Given the description of an element on the screen output the (x, y) to click on. 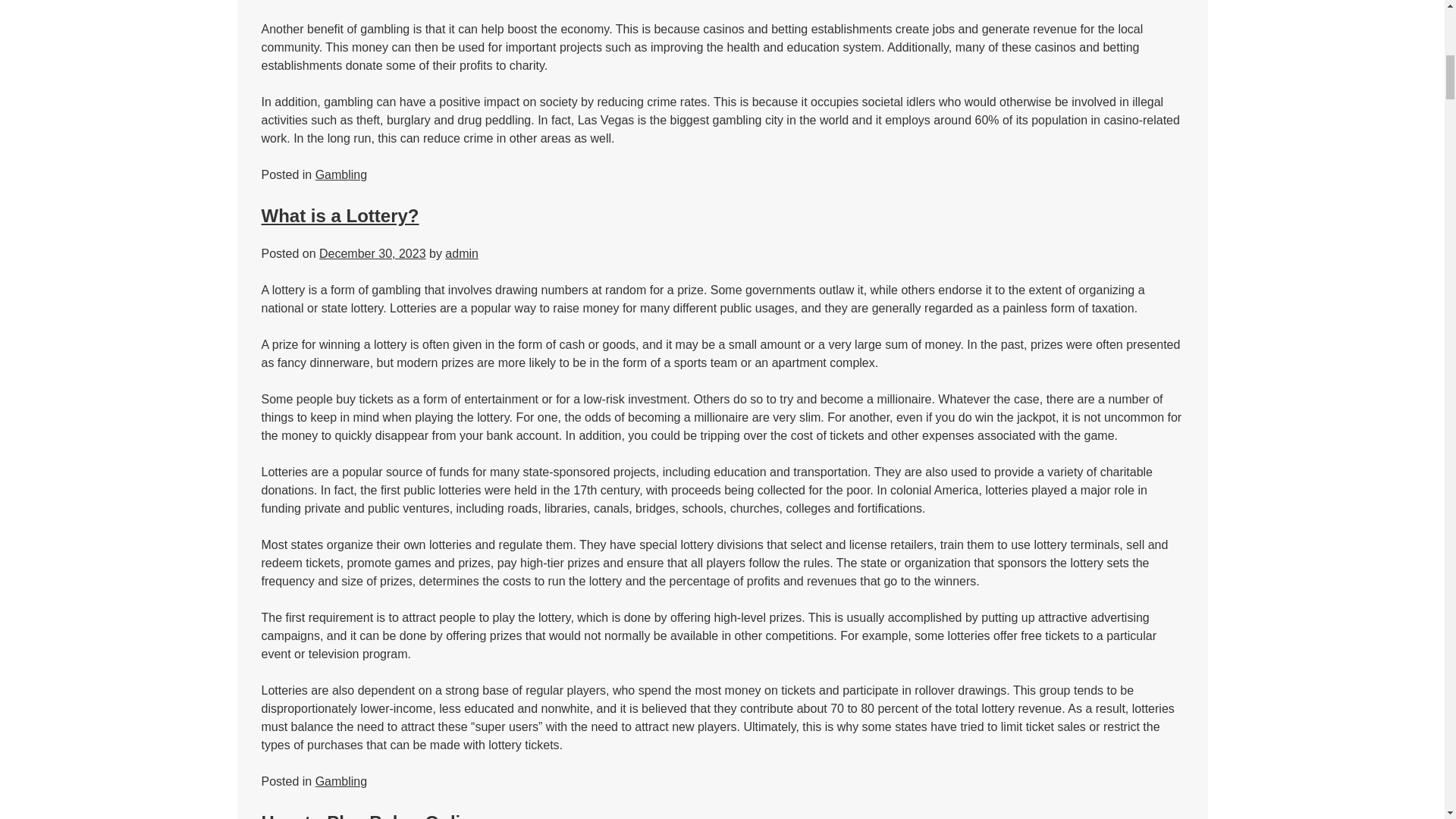
Gambling (340, 780)
How to Play Poker Online (370, 815)
admin (462, 253)
What is a Lottery? (339, 215)
December 30, 2023 (372, 253)
Gambling (340, 174)
